Given the description of an element on the screen output the (x, y) to click on. 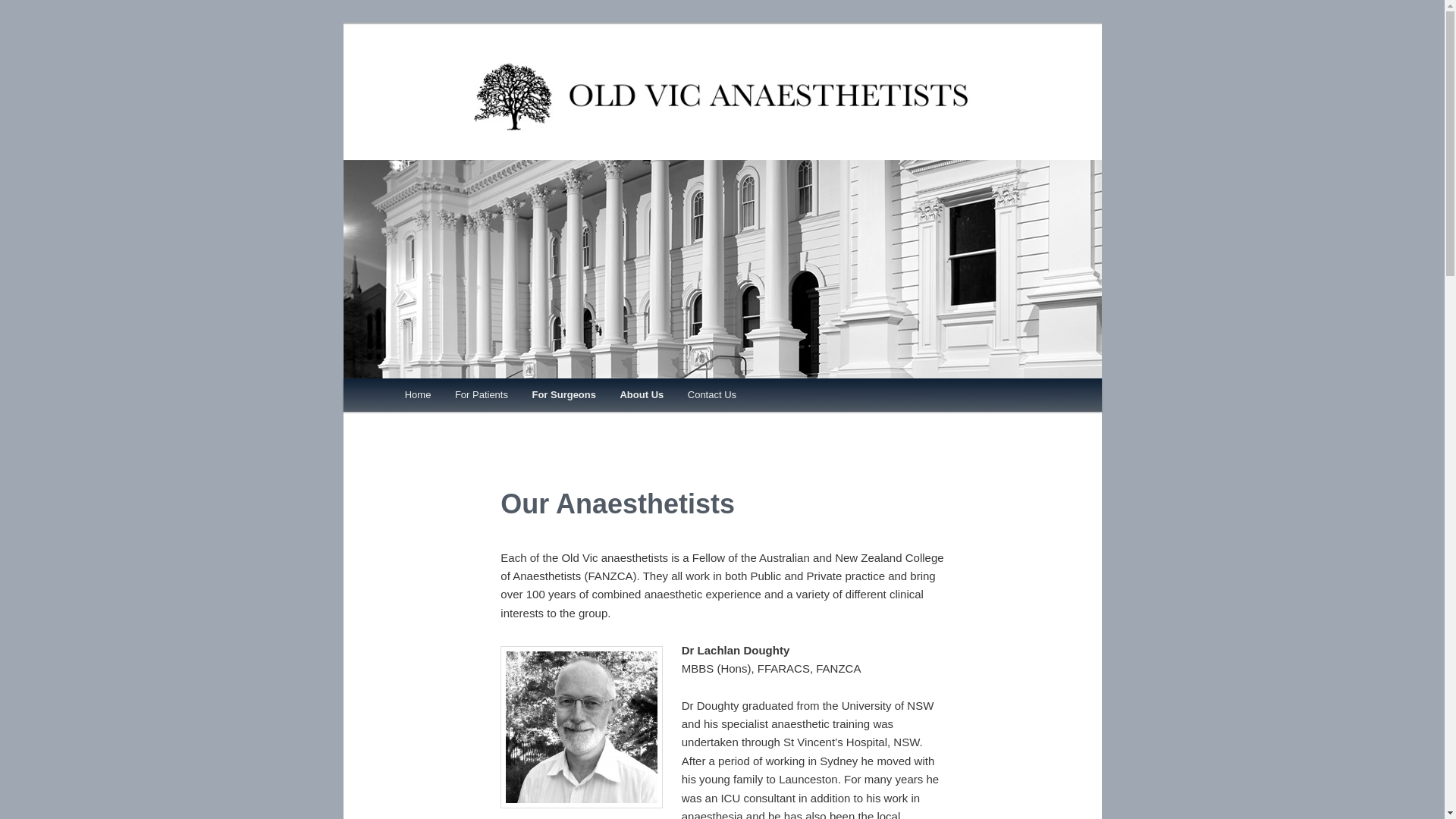
Home Element type: text (417, 394)
Old Vic Anaesthetists Element type: hover (721, 150)
Contact Us Element type: text (711, 394)
Skip to primary content Element type: text (472, 397)
About Us Element type: text (641, 394)
For Patients Element type: text (481, 394)
For Surgeons Element type: text (564, 394)
Skip to secondary content Element type: text (479, 397)
